Given the description of an element on the screen output the (x, y) to click on. 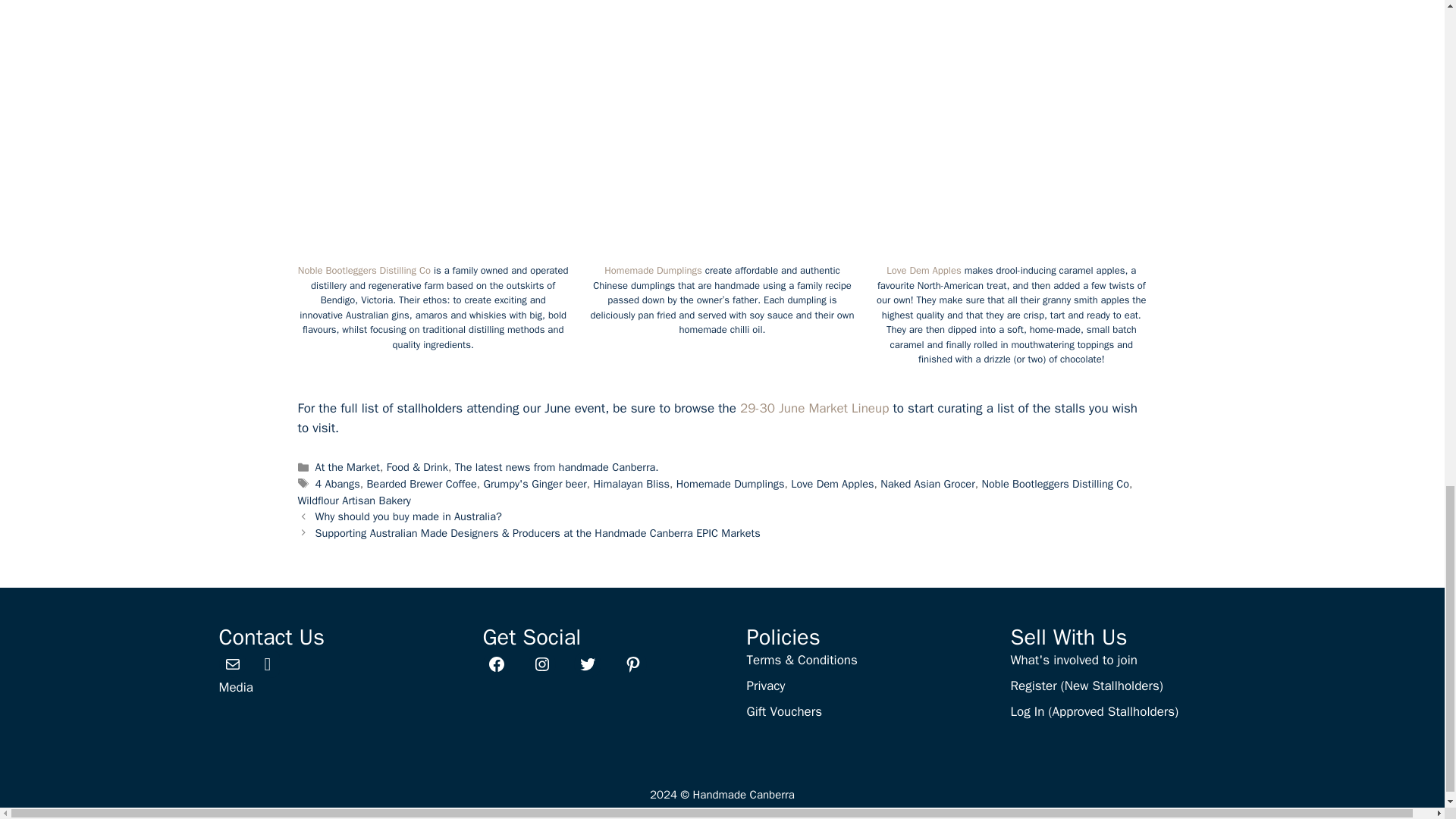
At the Market (347, 467)
Scroll back to top (1406, 274)
29-30 June Market Lineup (813, 408)
Homemade Dumplings (652, 269)
Noble Bootleggers Distilling Co (364, 269)
Bearded Brewer Coffee (421, 483)
The latest news from handmade Canberra. (556, 467)
4 Abangs (337, 483)
Love Dem Apples (923, 269)
